Given the description of an element on the screen output the (x, y) to click on. 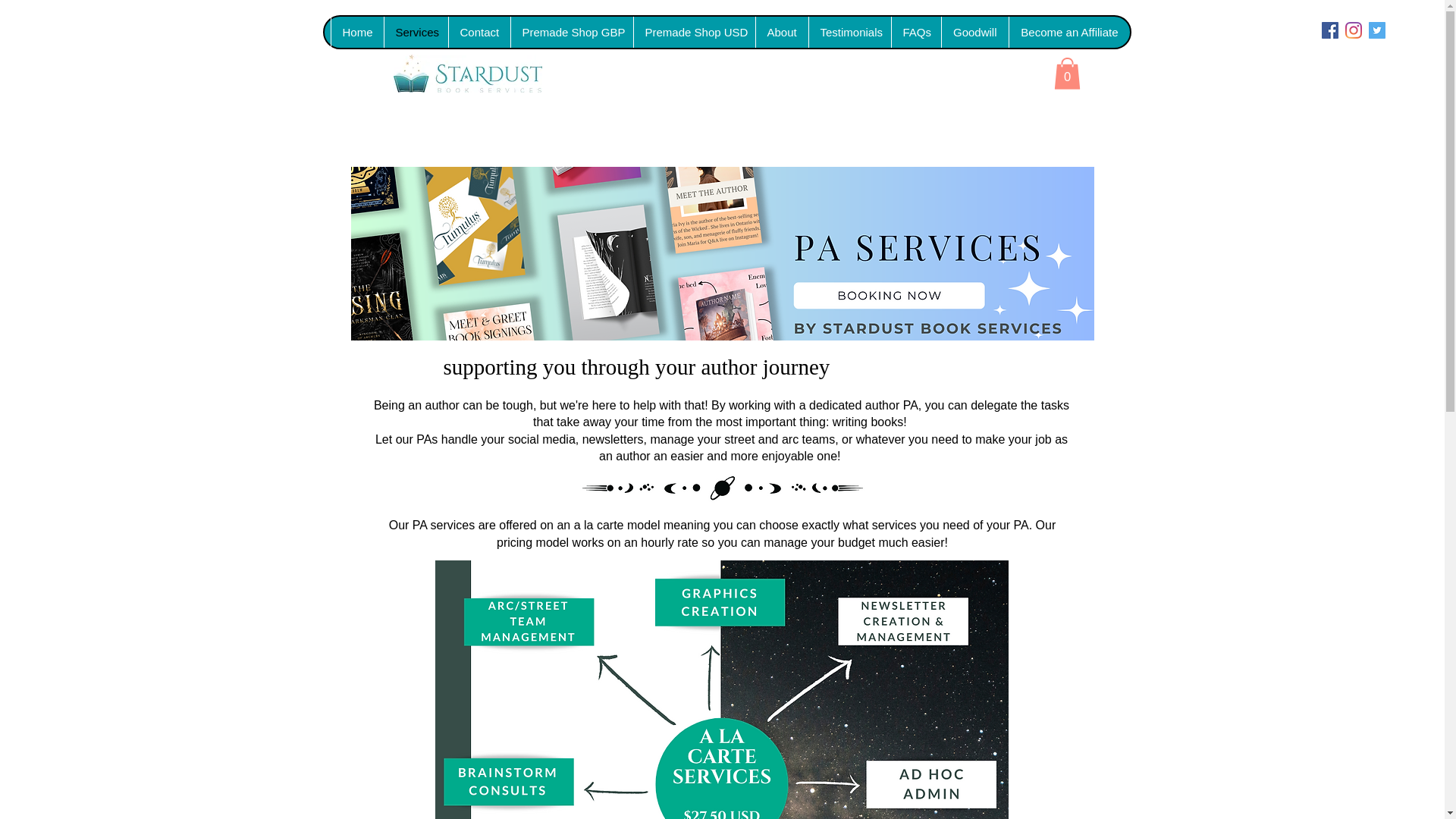
Home (357, 31)
Contact (477, 31)
Premade Shop GBP (570, 31)
FAQs (914, 31)
Services (416, 31)
Goodwill (973, 31)
Become an Affiliate (1069, 31)
About (781, 31)
Premade Shop USD (692, 31)
Testimonials (849, 31)
